Given the description of an element on the screen output the (x, y) to click on. 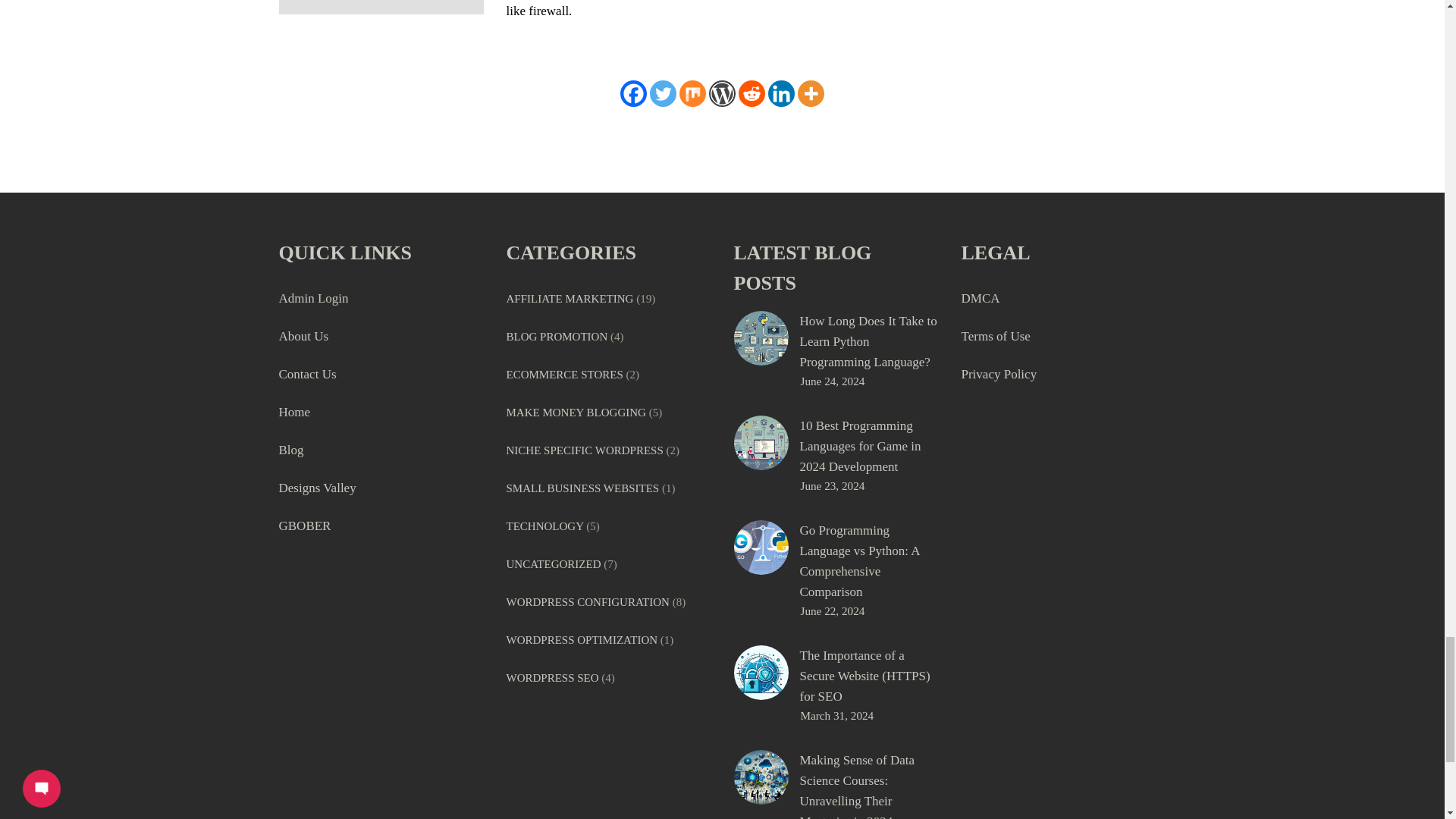
Facebook (633, 93)
Reddit (751, 93)
Mix (692, 93)
More (810, 93)
View all posts filed under Affiliate Marketing (569, 298)
View all posts filed under Make Money Blogging (576, 412)
View all posts filed under Niche Specific WordPress (584, 450)
Twitter (663, 93)
Linkedin (781, 93)
View all posts filed under Blog Promotion (557, 336)
View all posts filed under Ecommerce Stores (564, 374)
WordPress (722, 93)
